Given the description of an element on the screen output the (x, y) to click on. 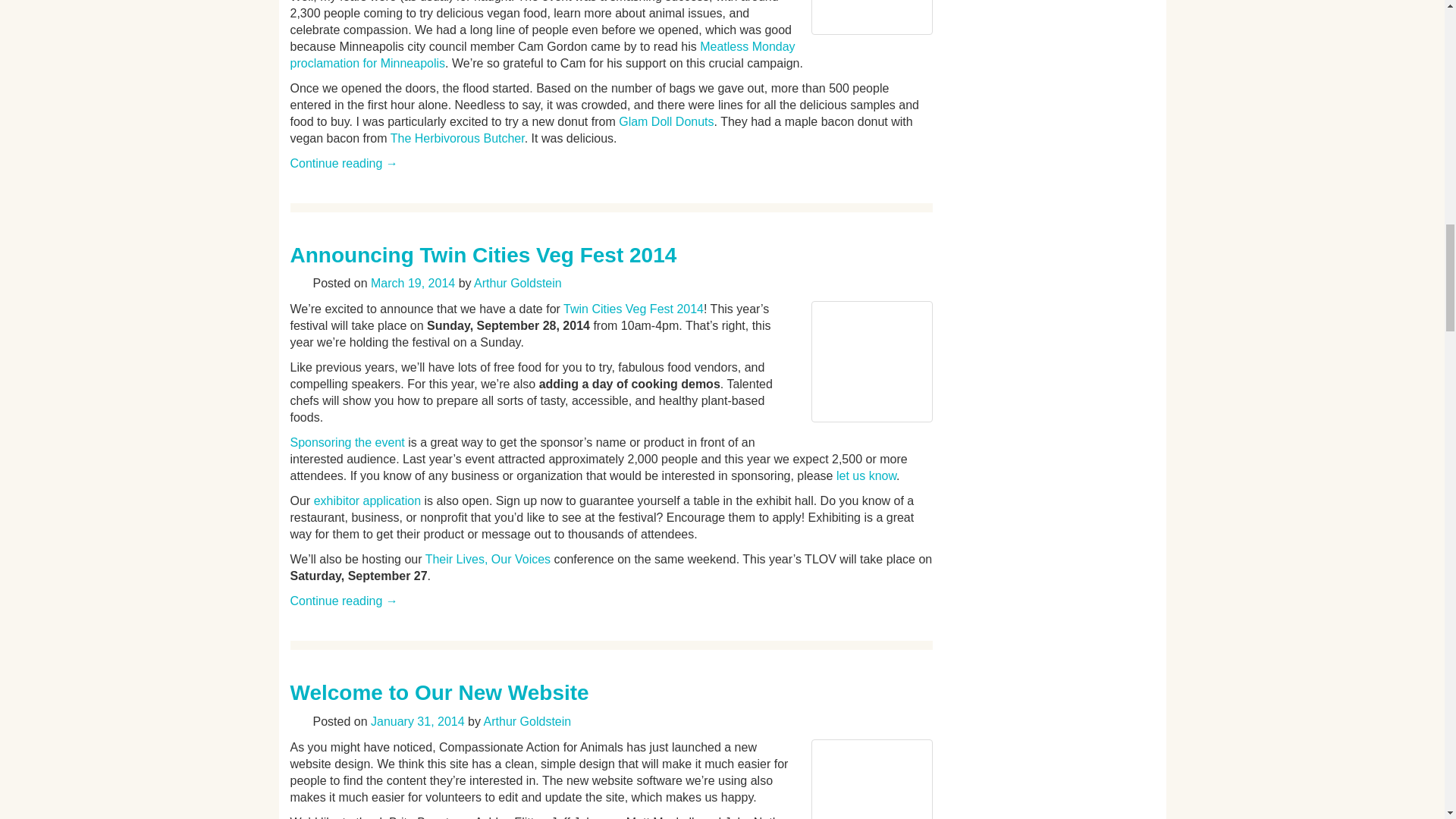
Meatless Monday (747, 46)
proclamation for Minneapolis (367, 62)
